Given the description of an element on the screen output the (x, y) to click on. 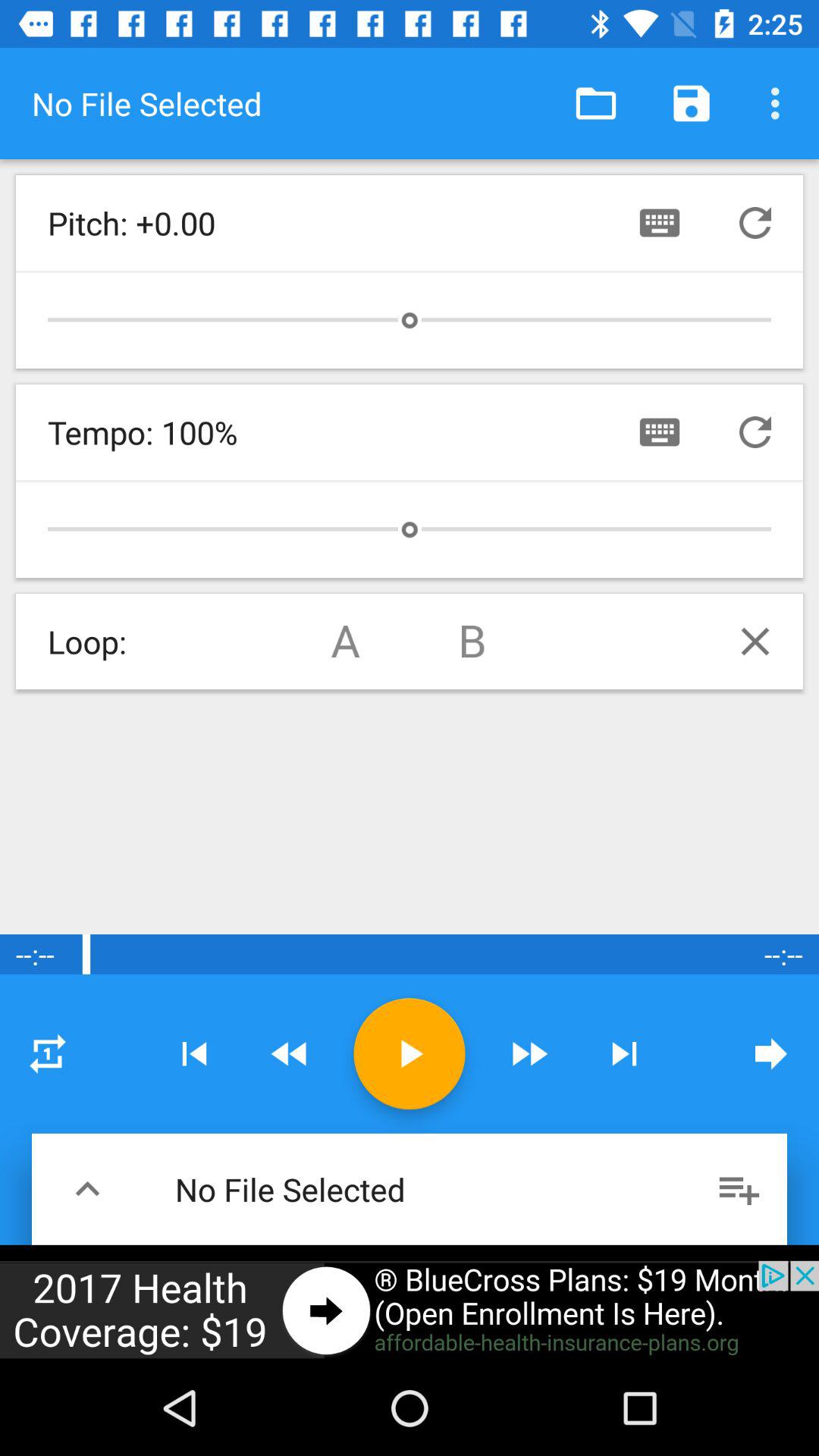
bring up keyboard (659, 432)
